Given the description of an element on the screen output the (x, y) to click on. 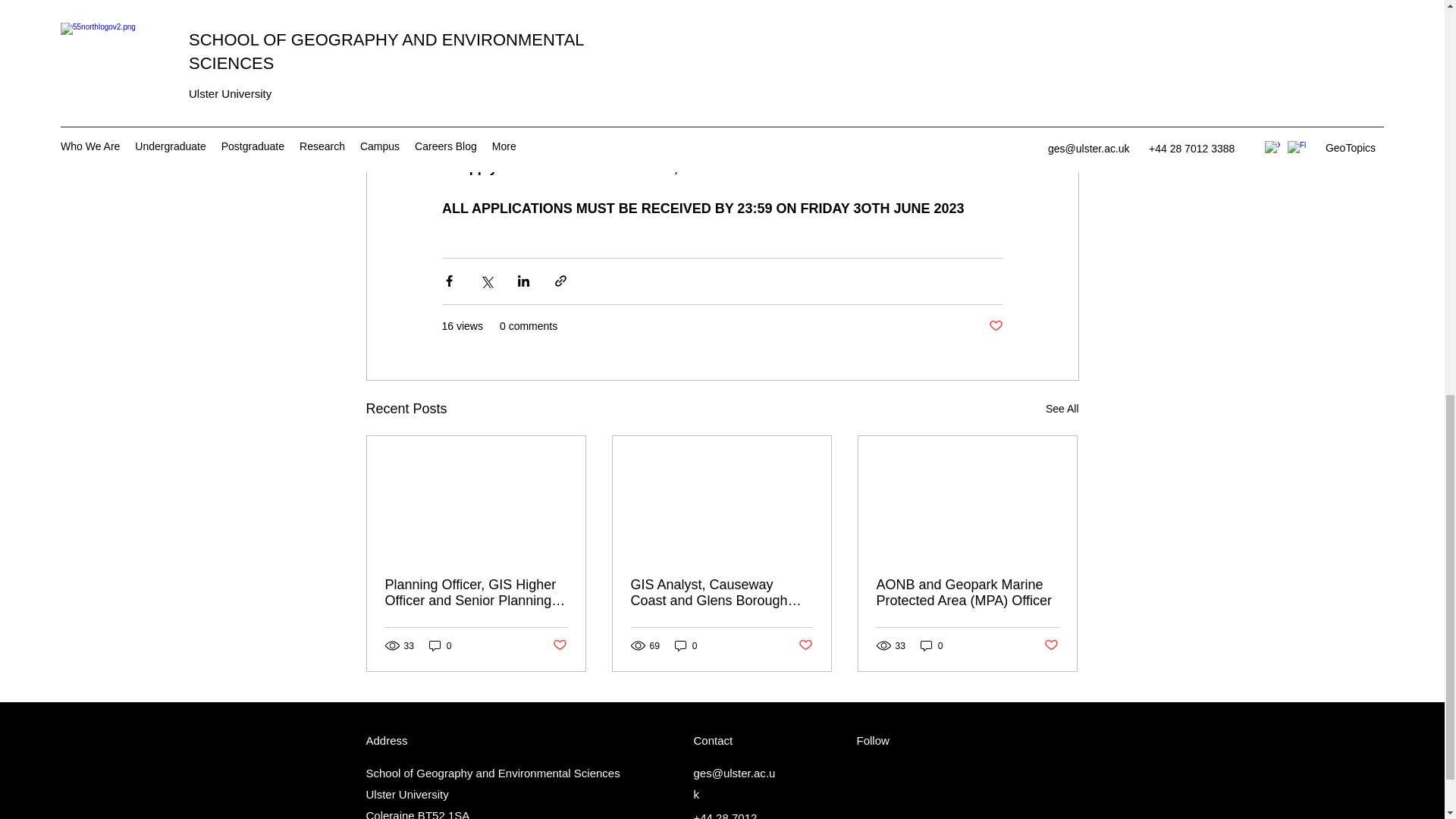
Post not marked as liked (804, 645)
0 (685, 645)
Post not marked as liked (995, 326)
See All (1061, 409)
0 (440, 645)
here (766, 168)
Post not marked as liked (1050, 645)
0 (931, 645)
GIS Analyst, Causeway Coast and Glens Borough Council (721, 593)
Post not marked as liked (558, 645)
